Given the description of an element on the screen output the (x, y) to click on. 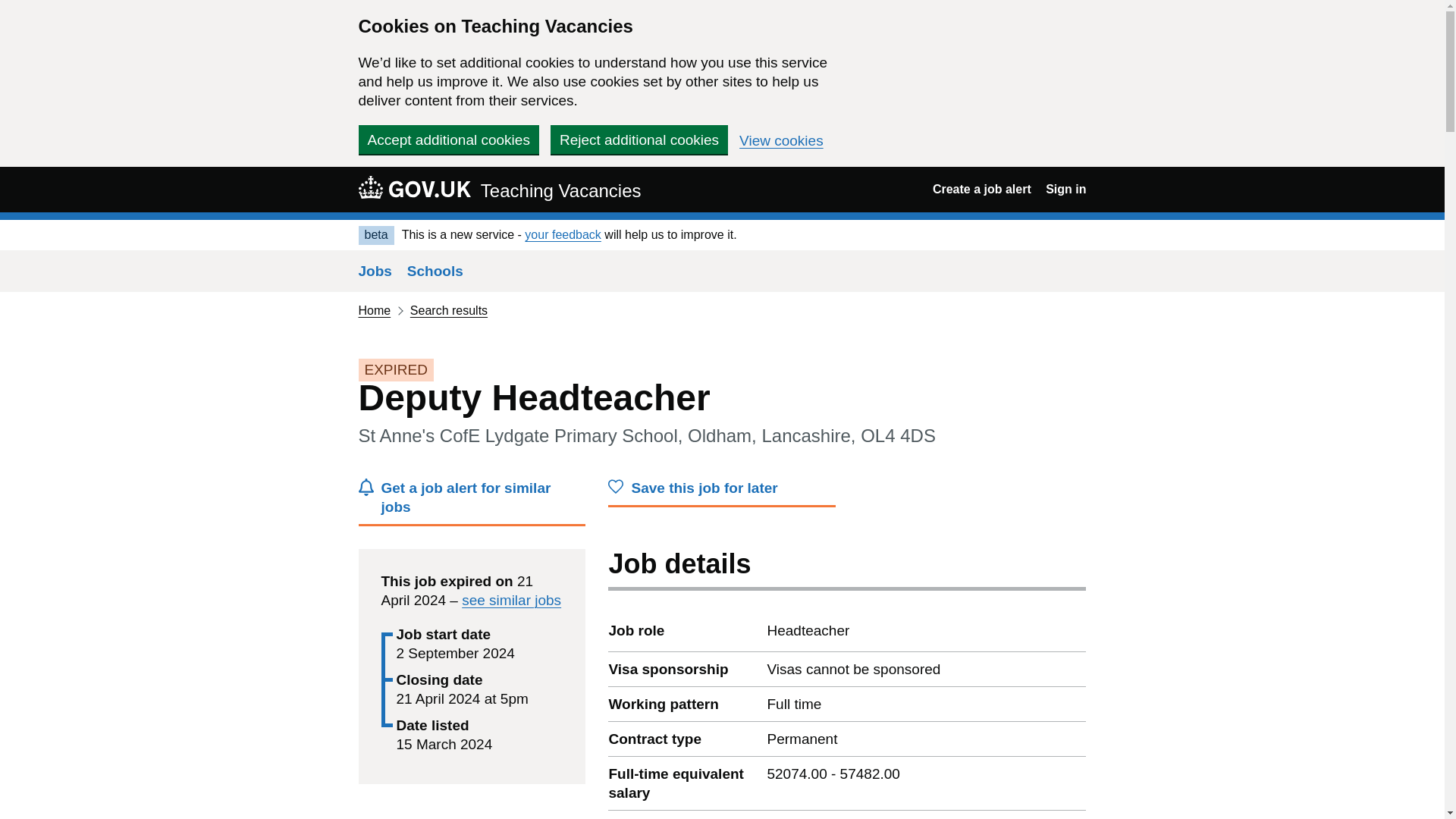
GOV.UK Teaching Vacancies (499, 188)
Get a job alert for similar jobs (471, 501)
your feedback (562, 234)
Reject additional cookies (639, 139)
Create a job alert (981, 188)
Save this job for later (721, 491)
Schools (435, 270)
Home (374, 309)
see similar jobs (510, 600)
Search results (448, 309)
Sign in (1065, 188)
GOV.UK (414, 187)
Accept additional cookies (448, 139)
View cookies (781, 140)
